Given the description of an element on the screen output the (x, y) to click on. 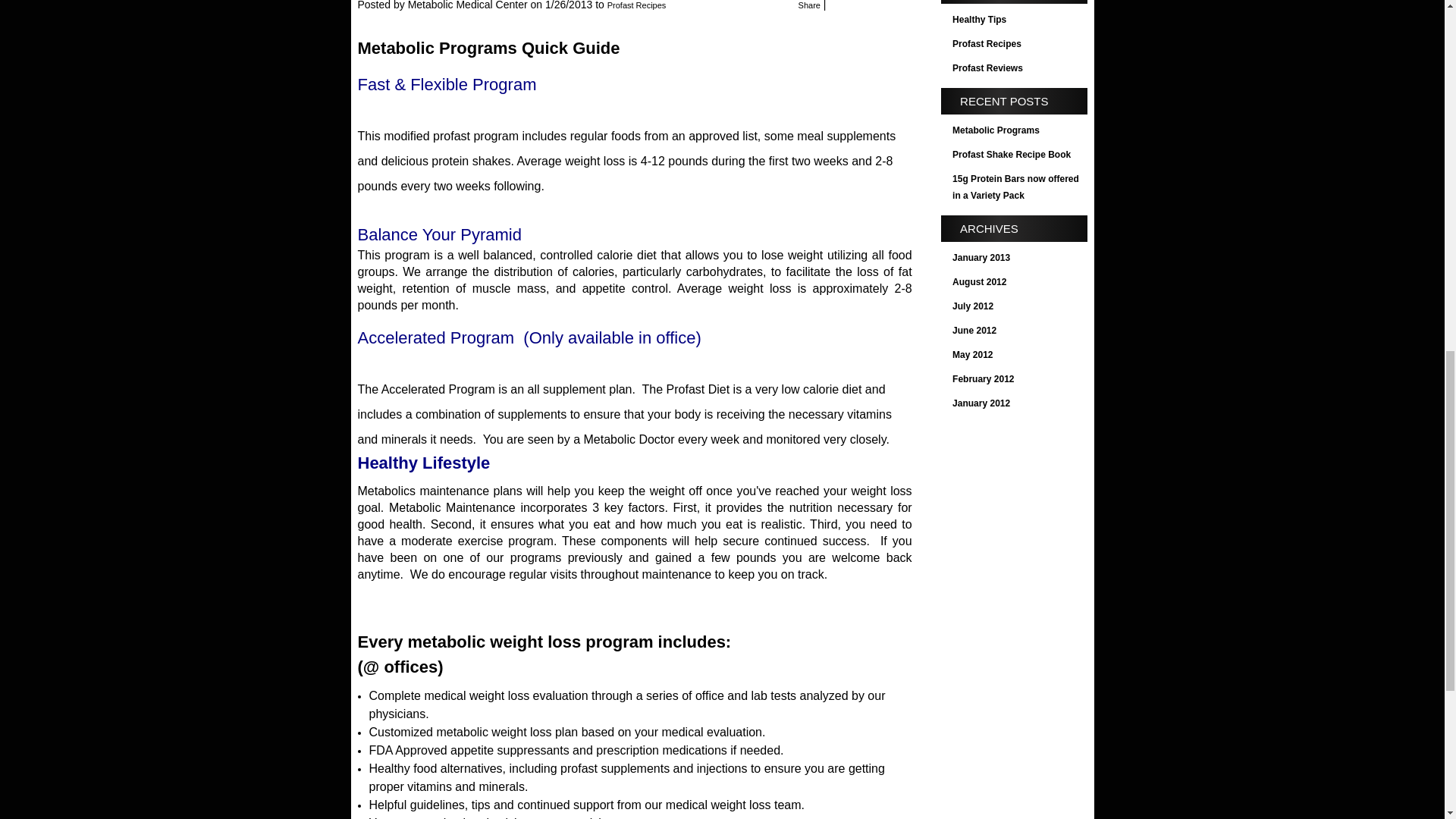
Profast Recipes (1019, 44)
Healthy Tips (1019, 19)
